Given the description of an element on the screen output the (x, y) to click on. 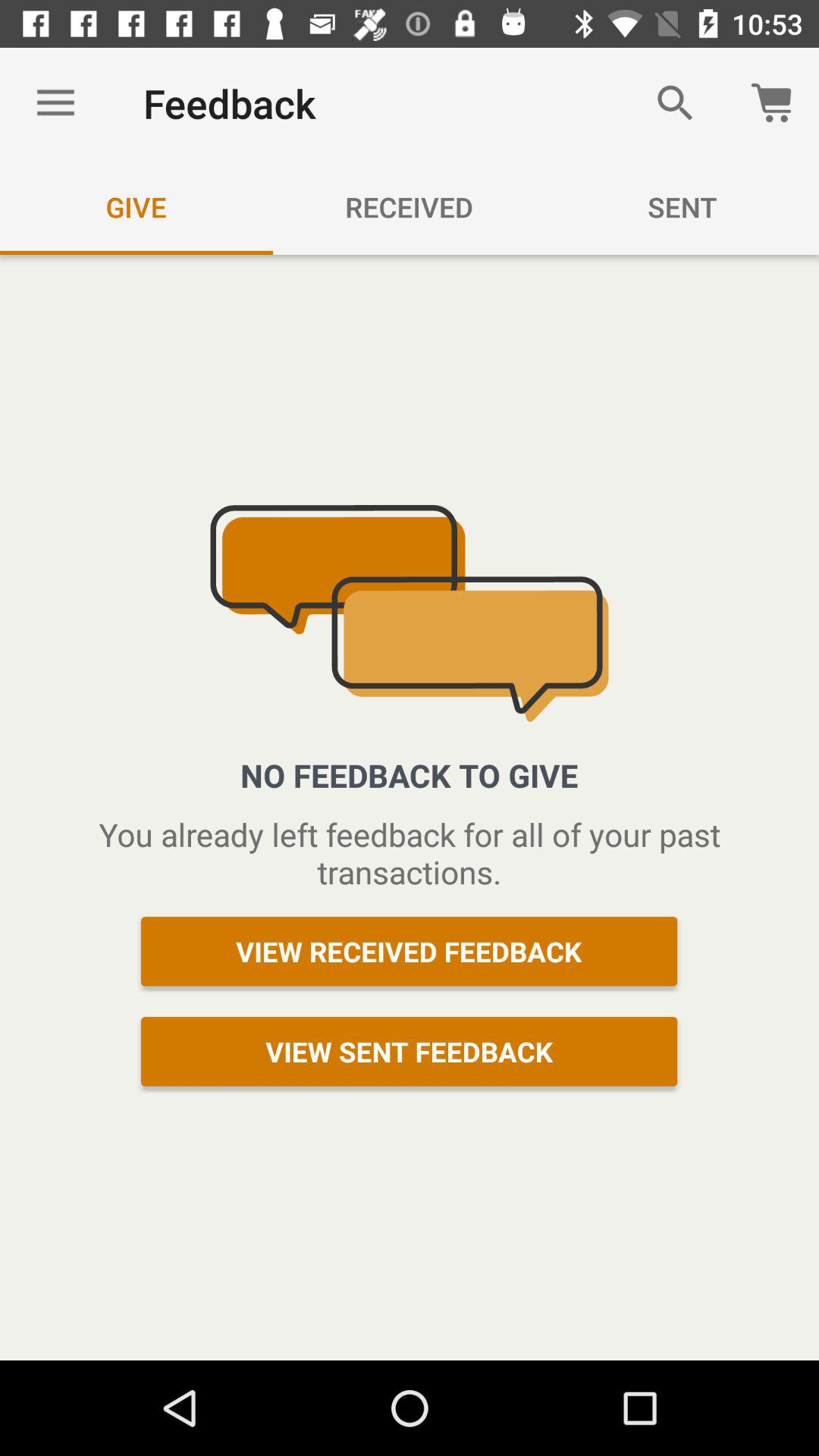
launch icon next to feedback (55, 103)
